Given the description of an element on the screen output the (x, y) to click on. 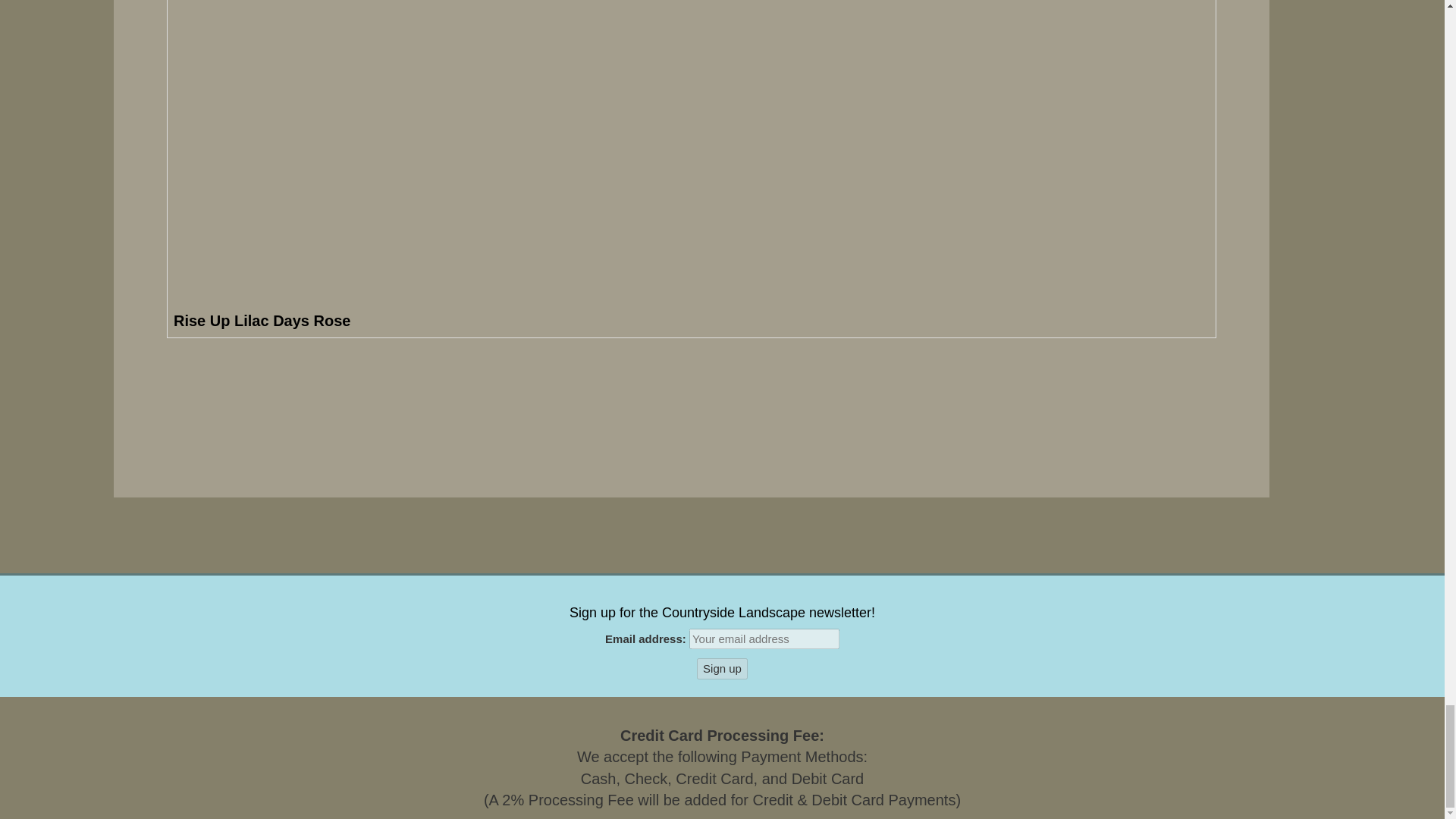
Sign up (722, 668)
Sign up (722, 668)
